Given the description of an element on the screen output the (x, y) to click on. 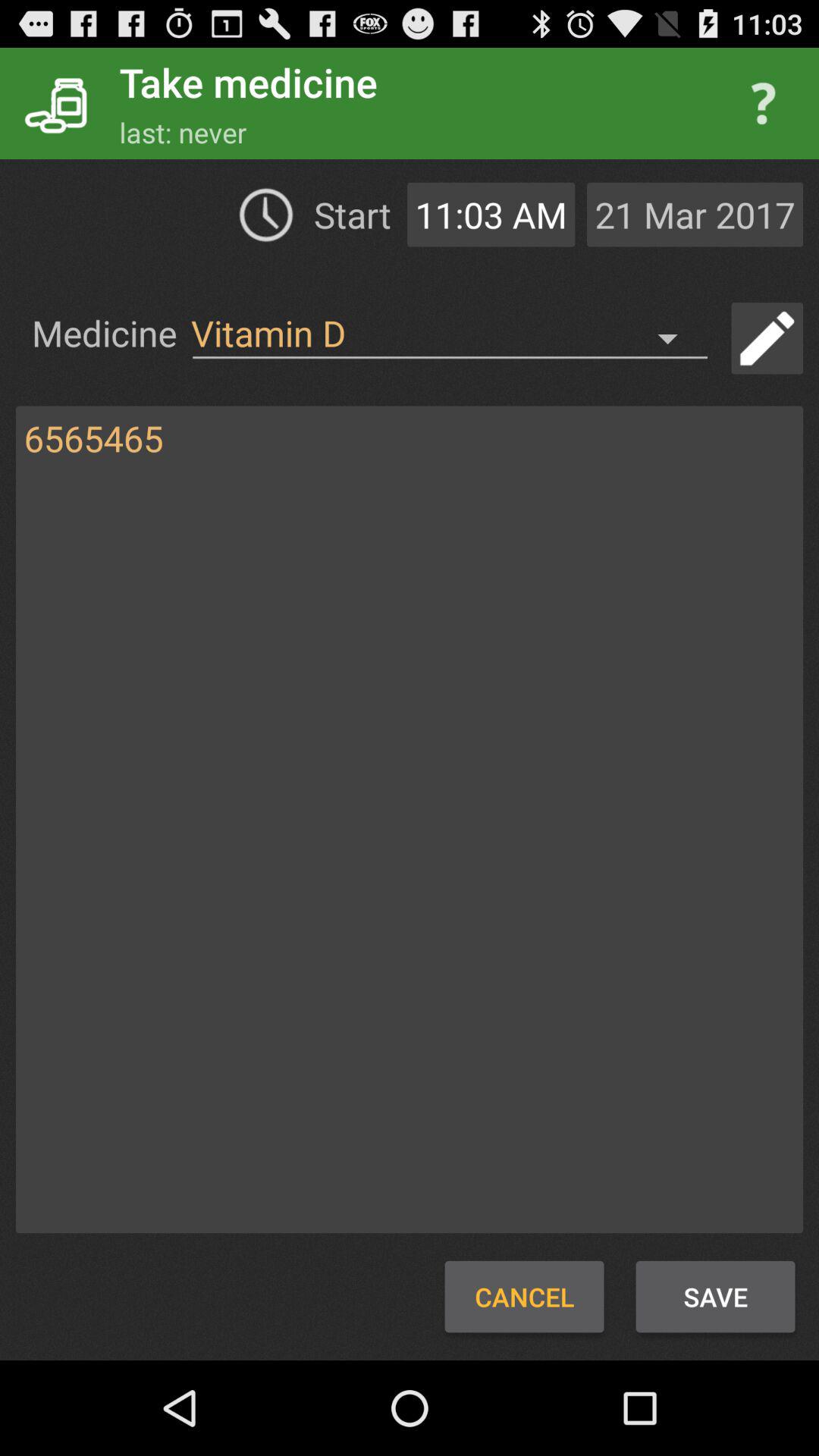
go to help section (763, 103)
